Given the description of an element on the screen output the (x, y) to click on. 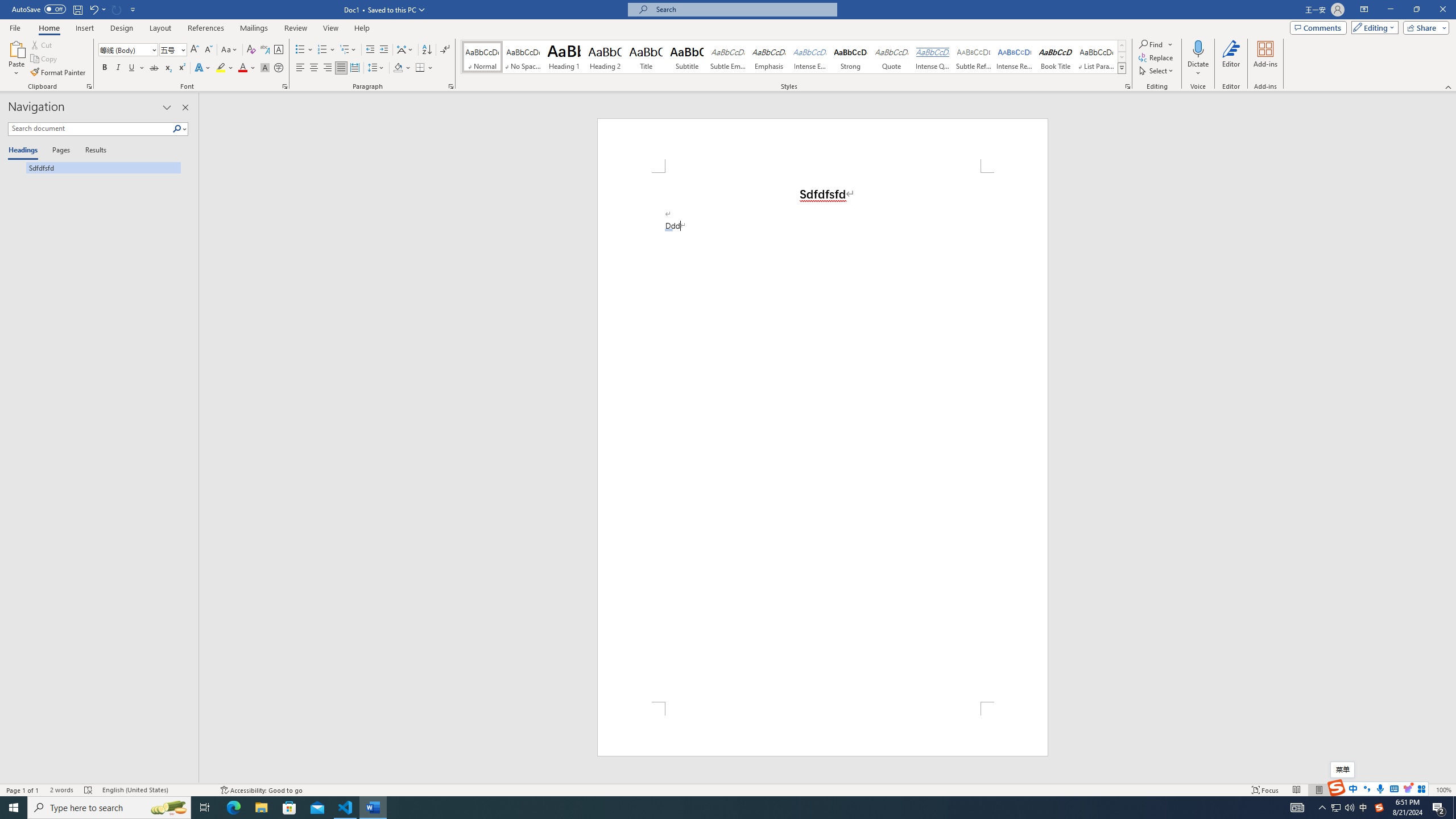
Subtle Emphasis (727, 56)
